Given the description of an element on the screen output the (x, y) to click on. 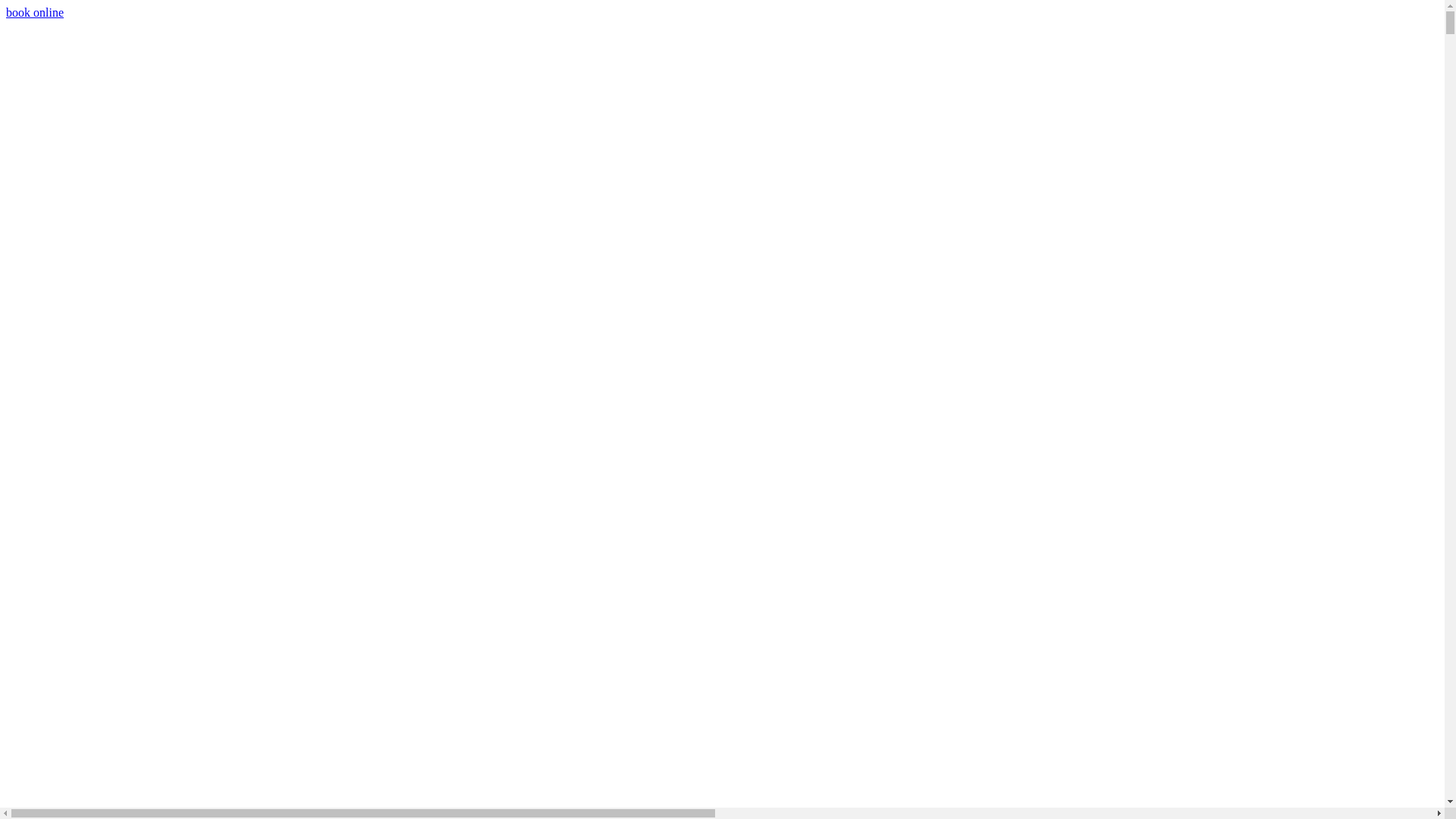
book online Element type: text (34, 12)
